Given the description of an element on the screen output the (x, y) to click on. 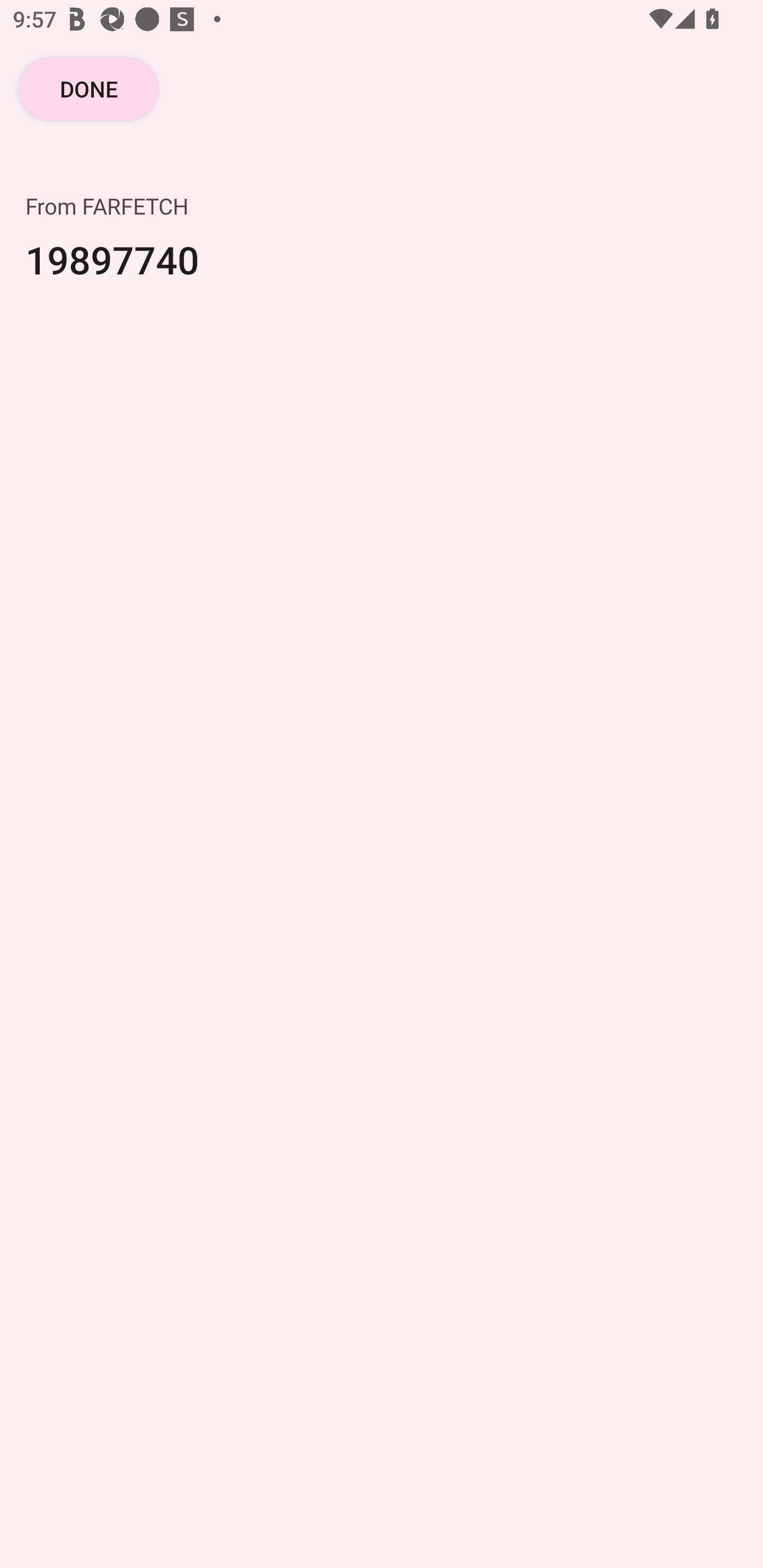
DONE (88, 88)
19897740 (381, 271)
